Given the description of an element on the screen output the (x, y) to click on. 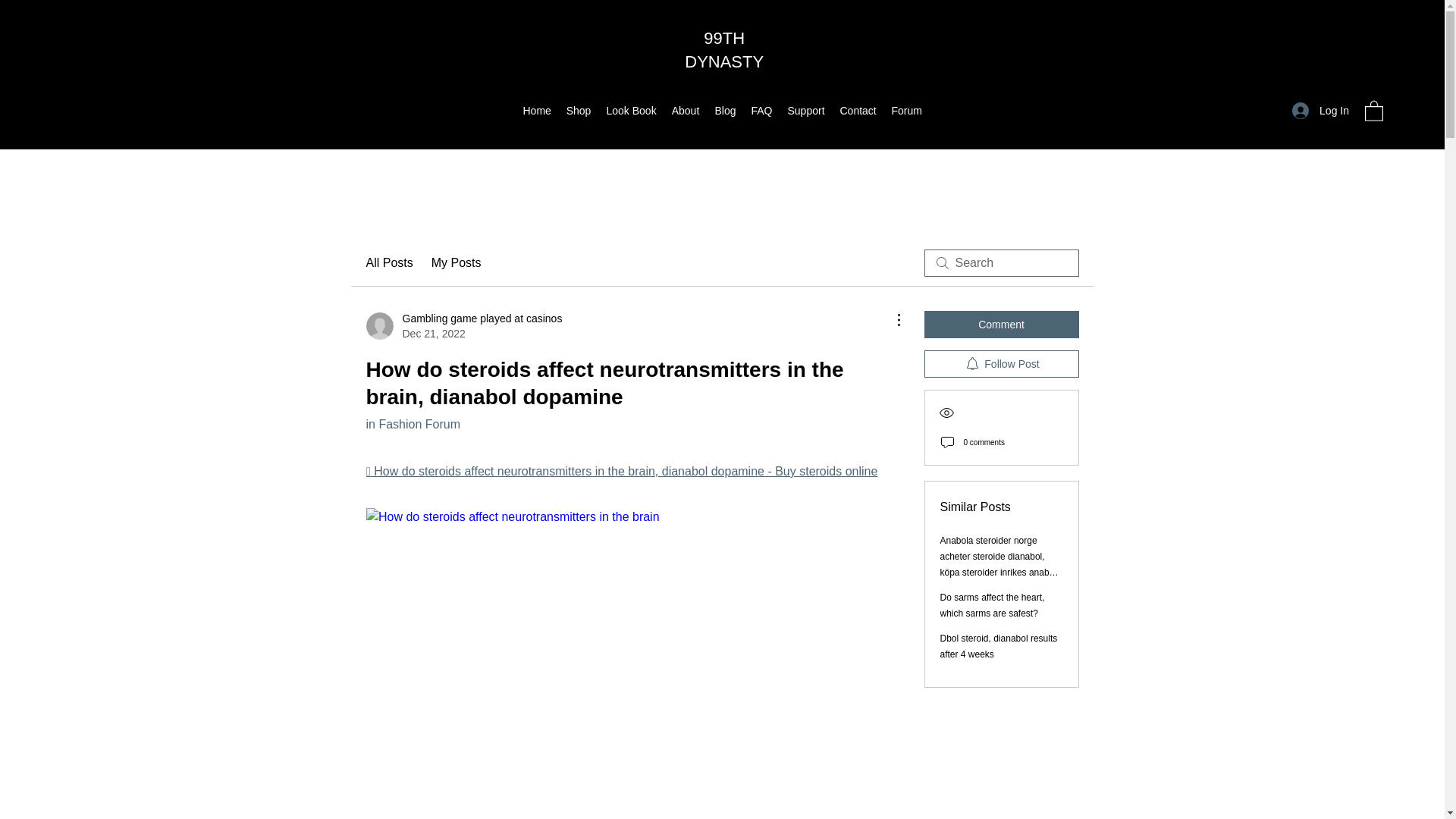
Dbol steroid, dianabol results after 4 weeks (999, 646)
All Posts (388, 262)
Follow Post (1000, 363)
Blog (724, 110)
Home (537, 110)
Look Book (630, 110)
Comment (1000, 324)
My Posts (455, 262)
Forum (906, 110)
Do sarms affect the heart, which sarms are safest? (992, 605)
